Given the description of an element on the screen output the (x, y) to click on. 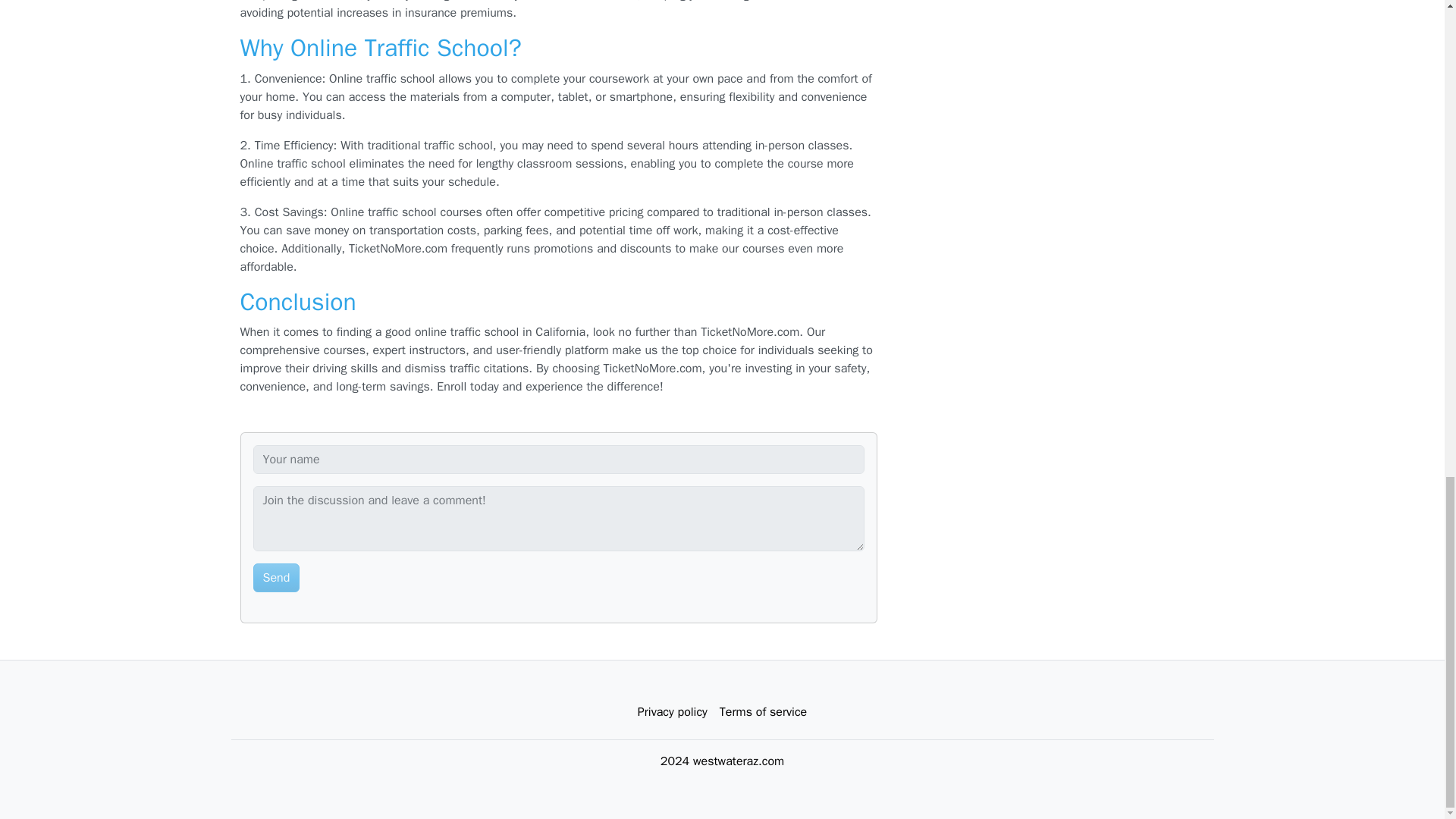
Send (276, 577)
Send (276, 577)
Privacy policy (672, 711)
Terms of service (762, 711)
